Given the description of an element on the screen output the (x, y) to click on. 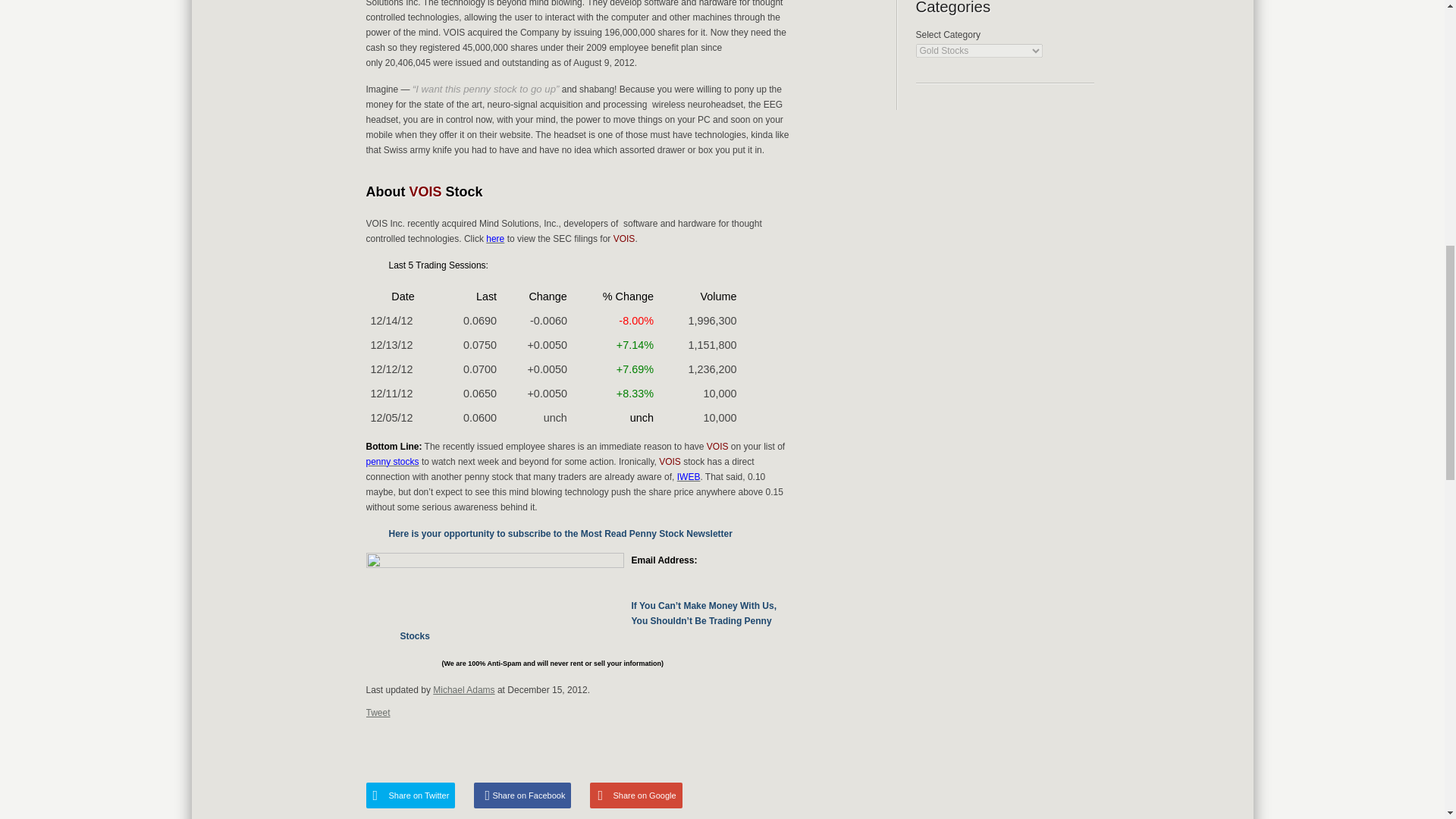
Share on Twitter (409, 795)
here (494, 238)
Share on Facebook (522, 795)
Share (834, 746)
Michael Adams (463, 689)
IWEB (688, 476)
penny stocks (392, 461)
Share on Google (635, 795)
Tweet (377, 712)
